Given the description of an element on the screen output the (x, y) to click on. 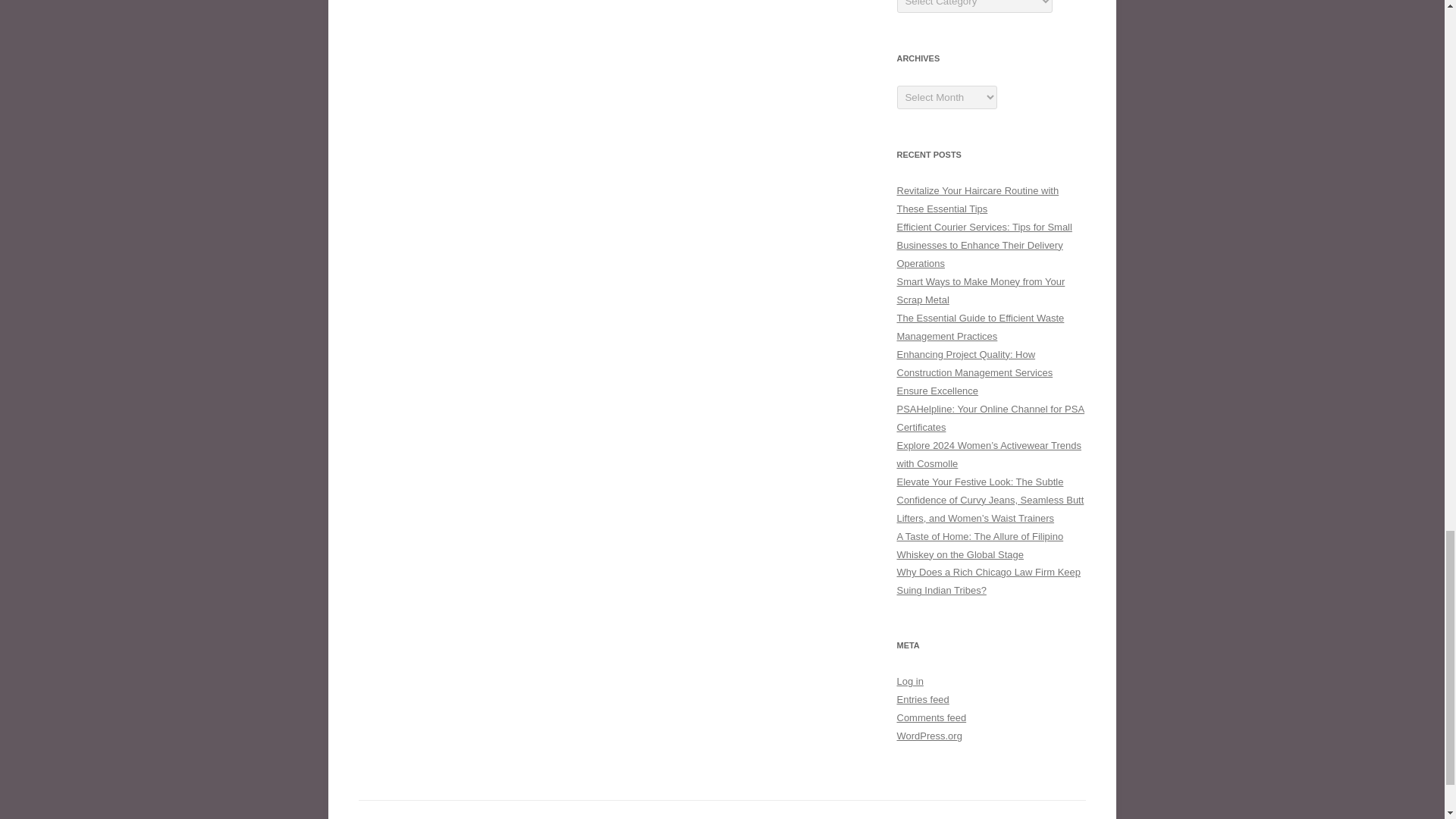
Smart Ways to Make Money from Your Scrap Metal (980, 290)
PSAHelpline: Your Online Channel for PSA Certificates (990, 418)
Revitalize Your Haircare Routine with These Essential Tips (977, 199)
The Essential Guide to Efficient Waste Management Practices (980, 327)
Why Does a Rich Chicago Law Firm Keep Suing Indian Tribes? (988, 581)
